Given the description of an element on the screen output the (x, y) to click on. 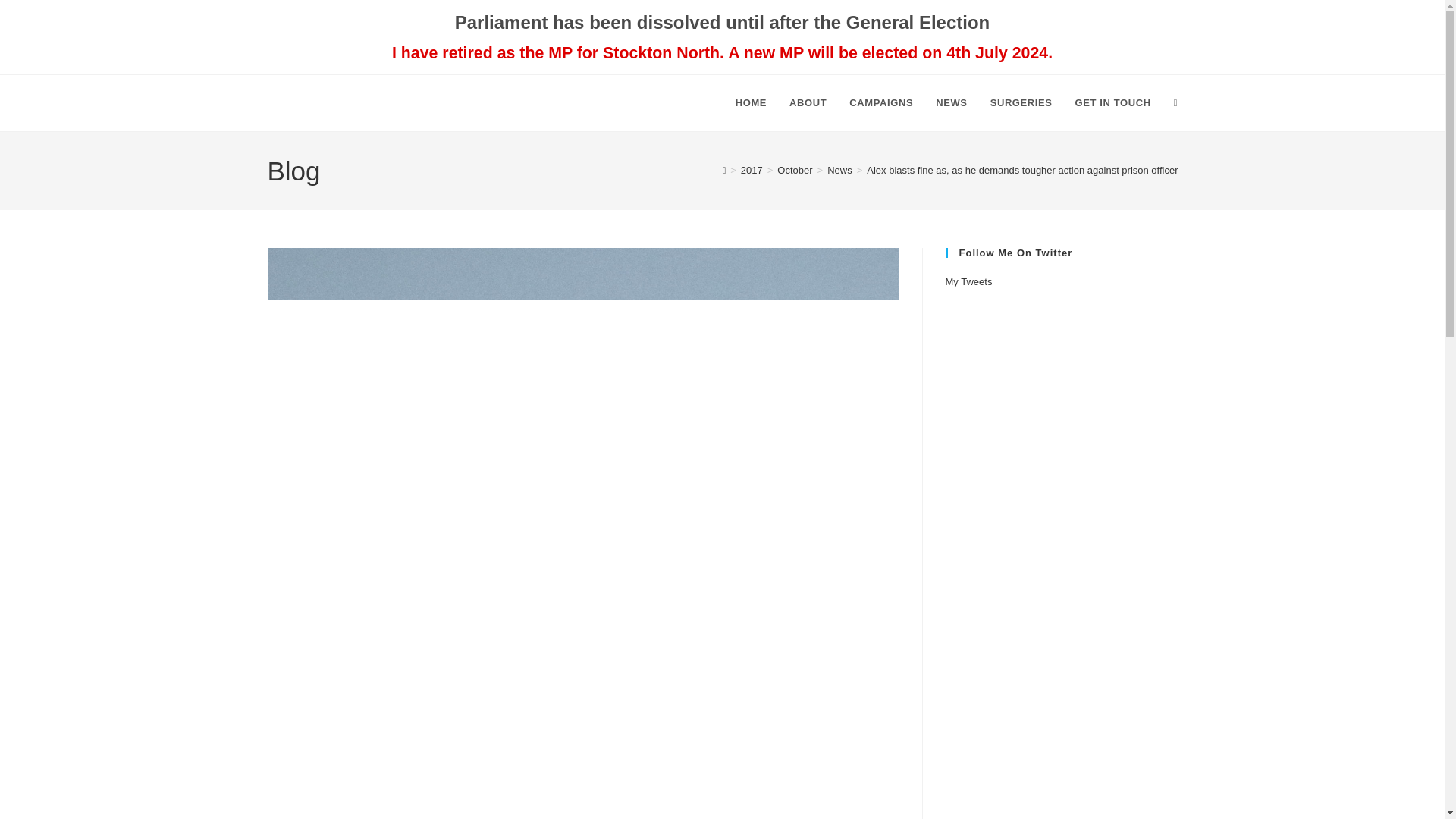
HOME (750, 103)
SURGERIES (1021, 103)
CAMPAIGNS (881, 103)
2017 (751, 170)
My Tweets (967, 281)
GET IN TOUCH (1112, 103)
News (839, 170)
Alex Cunningham MP (374, 102)
ABOUT (807, 103)
NEWS (951, 103)
October (794, 170)
